Given the description of an element on the screen output the (x, y) to click on. 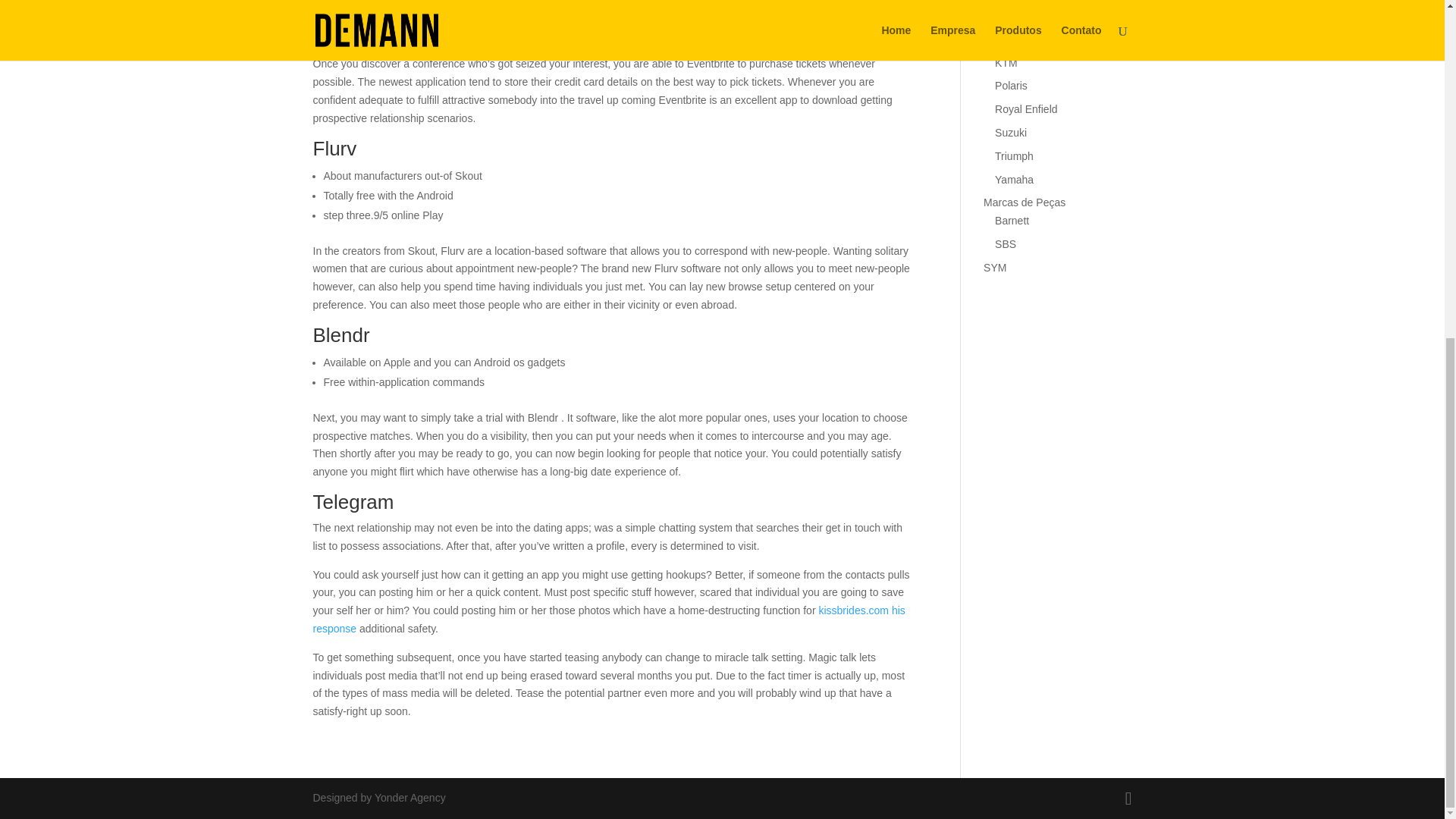
Royal Enfield (1026, 109)
Polaris (1010, 85)
Suzuki (1010, 132)
Kawasaki (1017, 39)
Indian (1008, 15)
KTM (1005, 62)
kissbrides.com his response (608, 619)
